Given the description of an element on the screen output the (x, y) to click on. 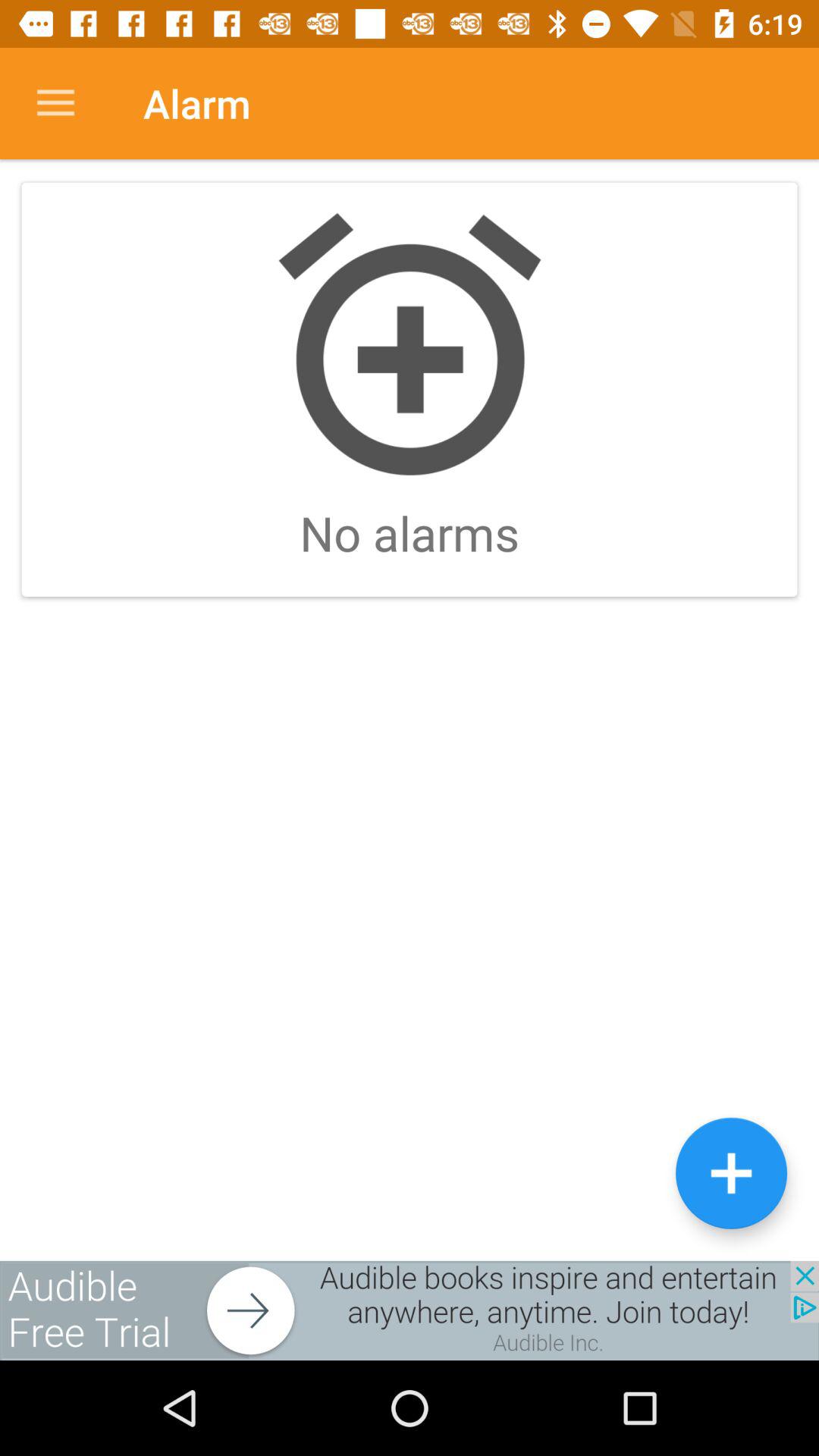
go to advertisement (409, 1310)
